Given the description of an element on the screen output the (x, y) to click on. 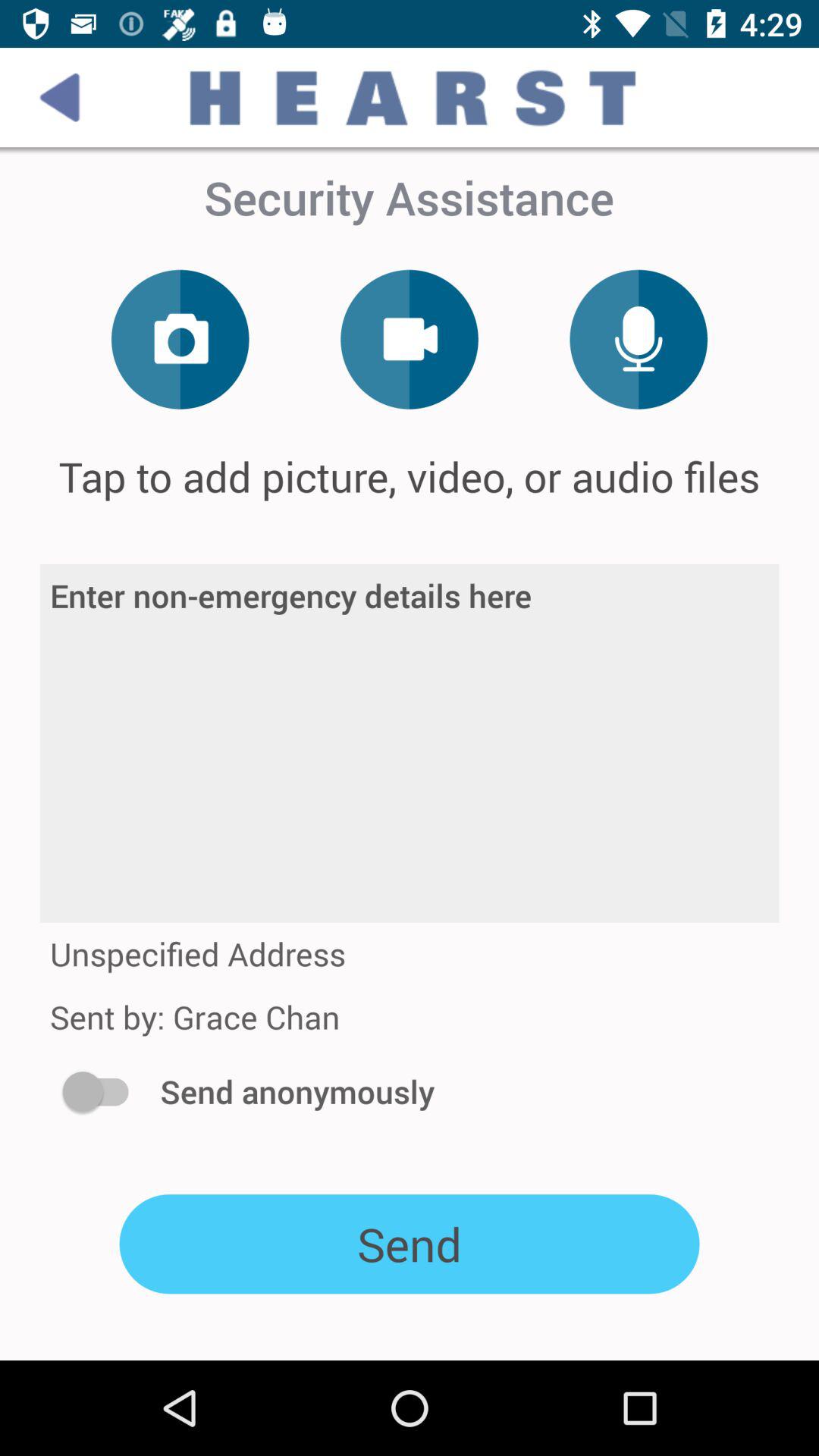
click the icon to the left of send anonymously icon (102, 1091)
